Given the description of an element on the screen output the (x, y) to click on. 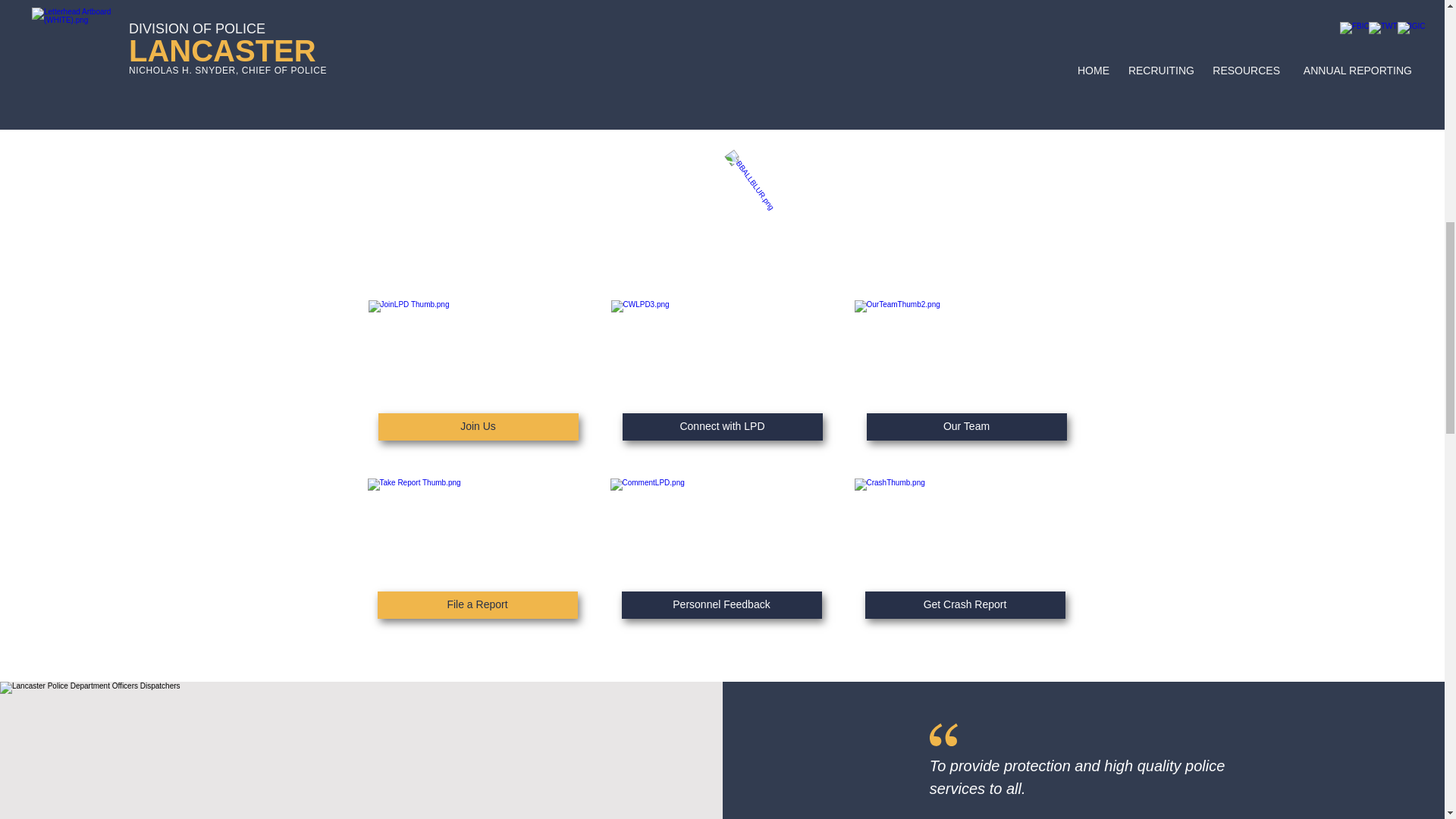
Personnel Feedback (721, 605)
Join Us (477, 426)
Get Crash Report (964, 605)
Connect with LPD (721, 426)
File a Report (477, 605)
Our Team (965, 426)
